Given the description of an element on the screen output the (x, y) to click on. 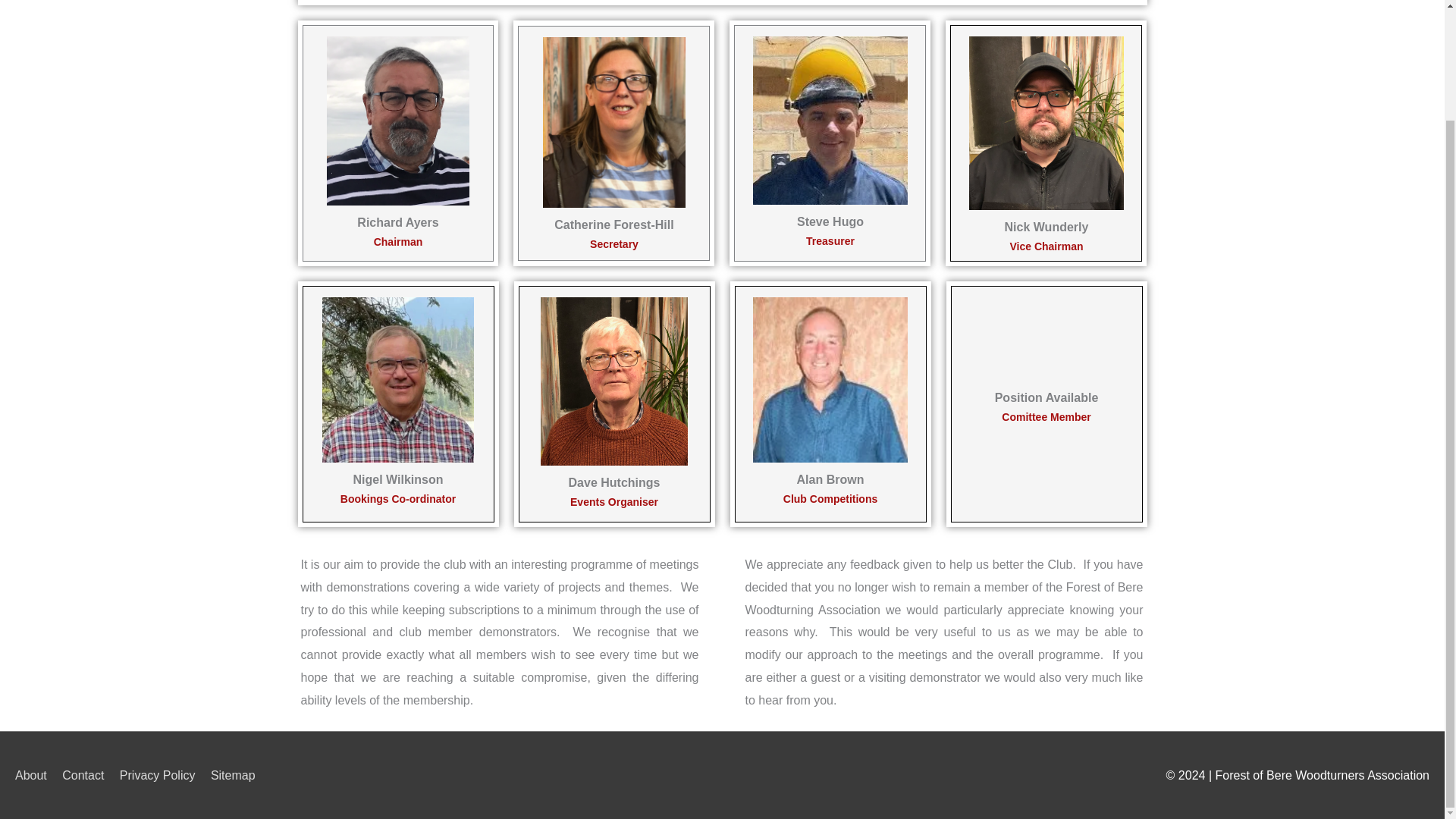
Sitemap (239, 775)
About (36, 775)
Contact (89, 775)
Privacy Policy (163, 775)
